Given the description of an element on the screen output the (x, y) to click on. 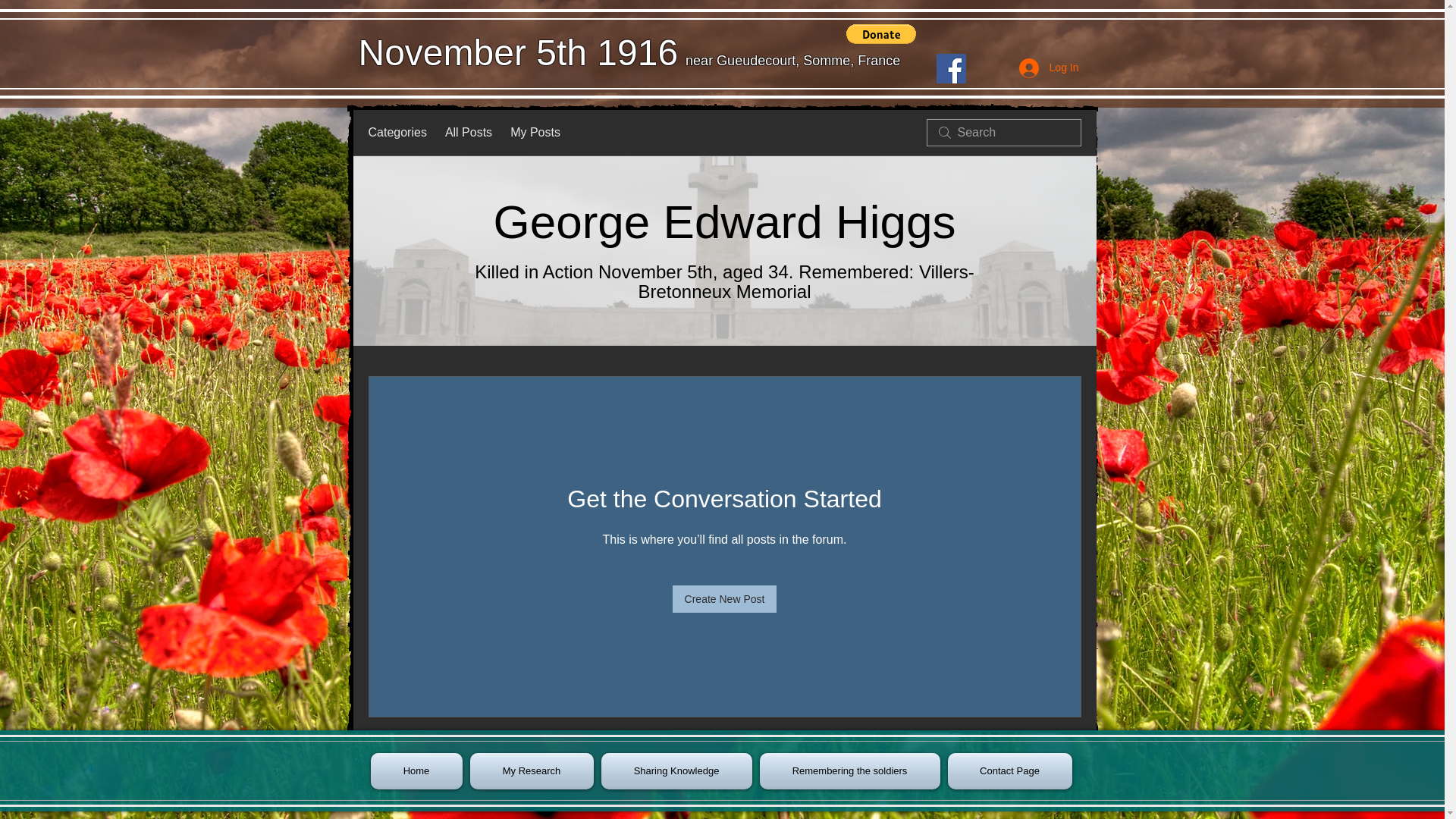
Home (417, 770)
My Research (530, 770)
Log In (1049, 67)
Contact Page (1007, 770)
My Posts (535, 132)
Sharing Knowledge (675, 770)
All Posts (468, 132)
Create New Post (724, 598)
Remembering the soldiers (849, 770)
Categories (397, 132)
